Given the description of an element on the screen output the (x, y) to click on. 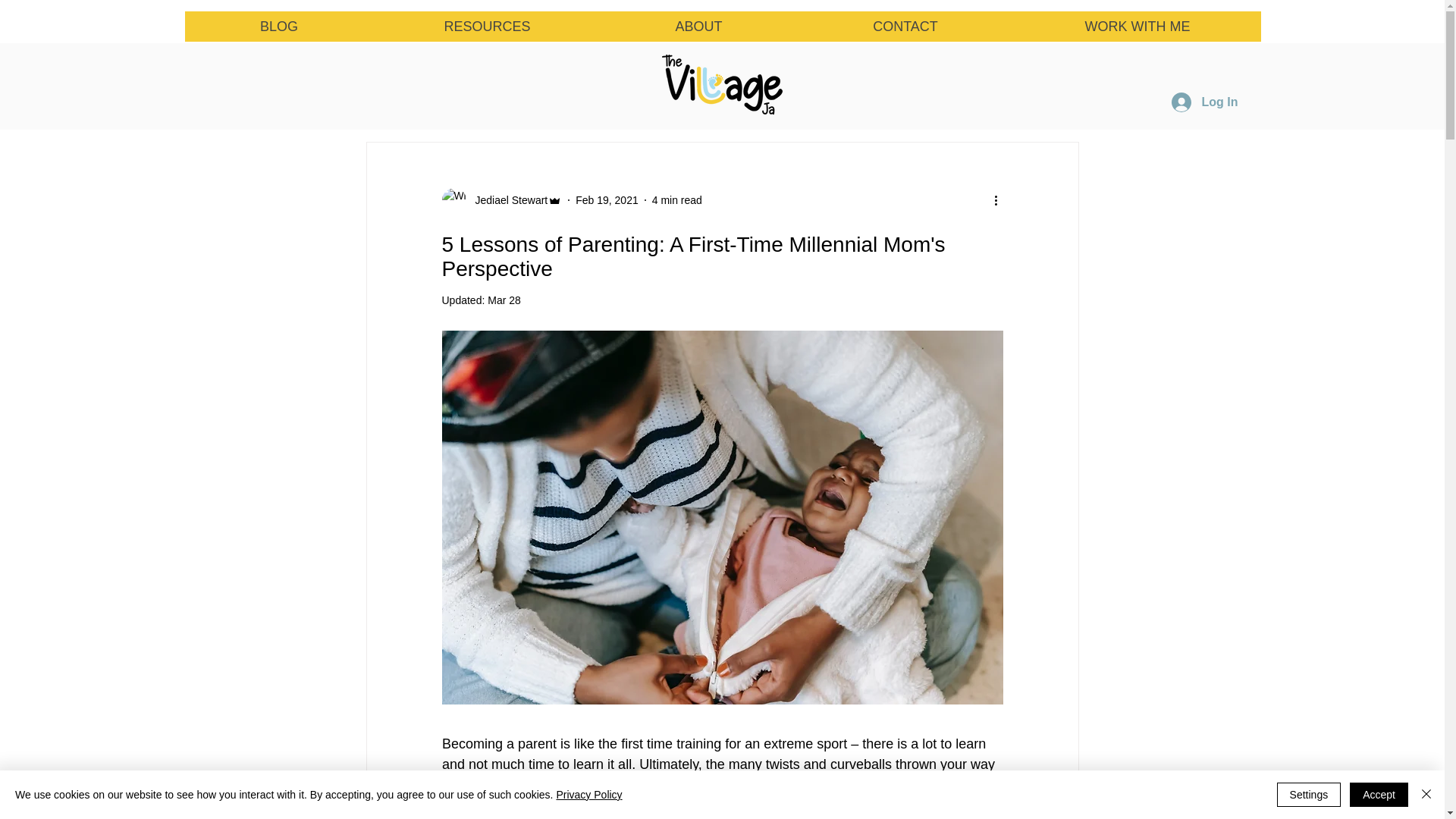
Jediael Stewart (501, 200)
ABOUT (697, 26)
WORK WITH ME (1136, 26)
4 min read (676, 200)
BLOG (279, 26)
Feb 19, 2021 (607, 200)
CONTACT (904, 26)
Jediael Stewart (506, 200)
Mar 28 (504, 300)
Log In (1204, 102)
